Given the description of an element on the screen output the (x, y) to click on. 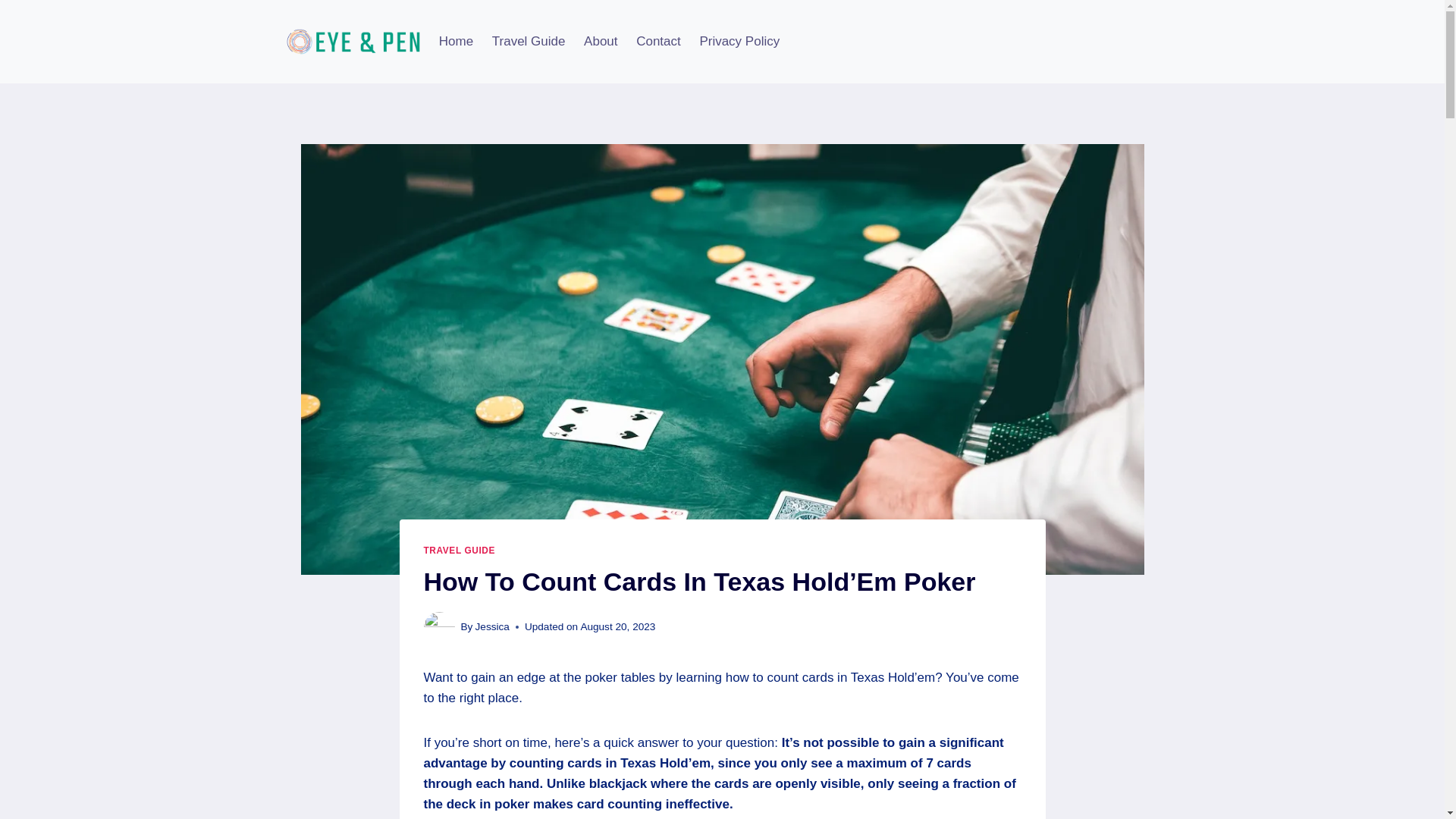
Jessica (492, 626)
TRAVEL GUIDE (459, 550)
Travel Guide (527, 41)
About (601, 41)
Contact (658, 41)
Home (455, 41)
Privacy Policy (739, 41)
